Given the description of an element on the screen output the (x, y) to click on. 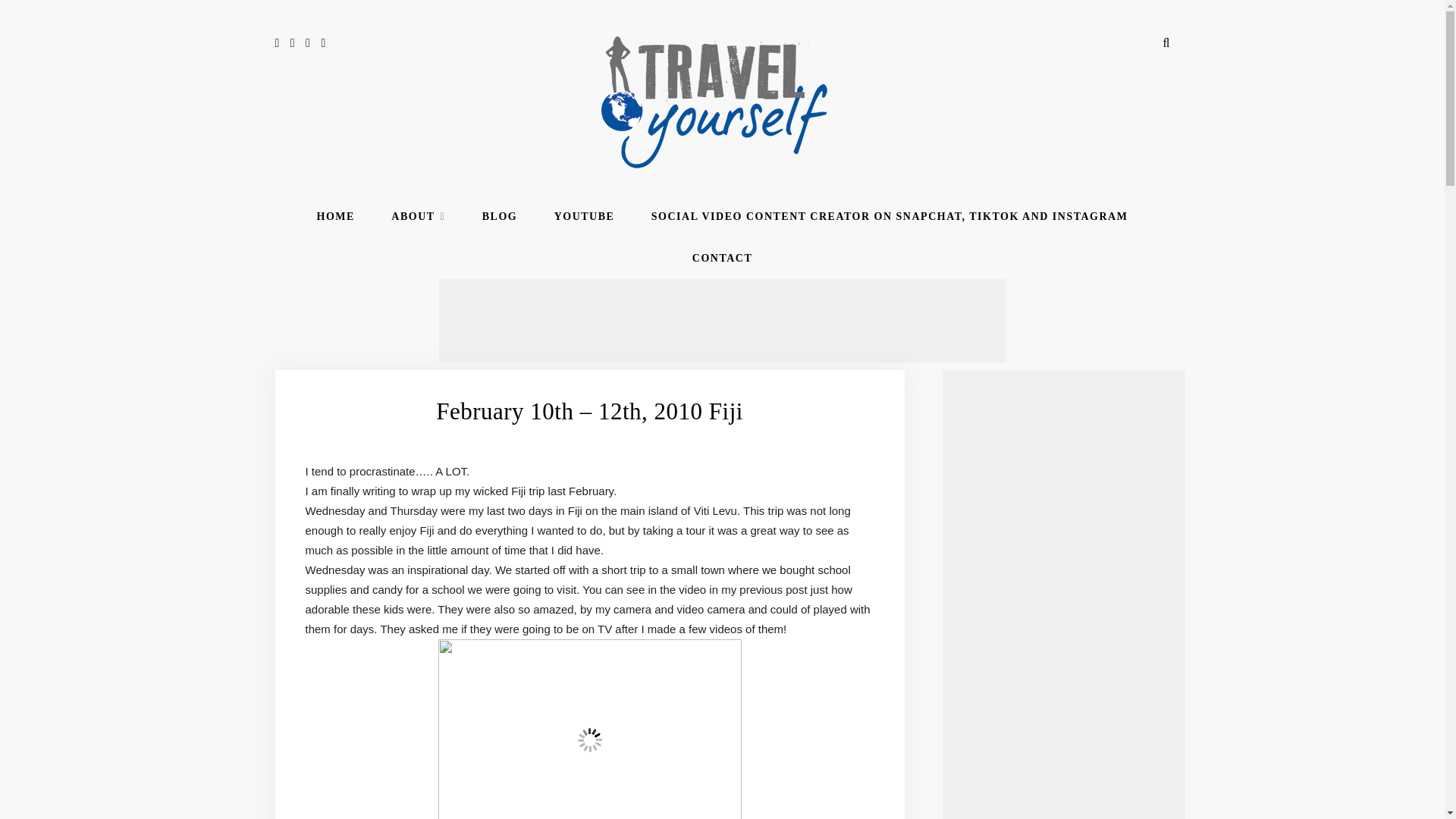
HOME (336, 216)
CONTACT (722, 258)
ABOUT (418, 216)
YOUTUBE (584, 216)
